Given the description of an element on the screen output the (x, y) to click on. 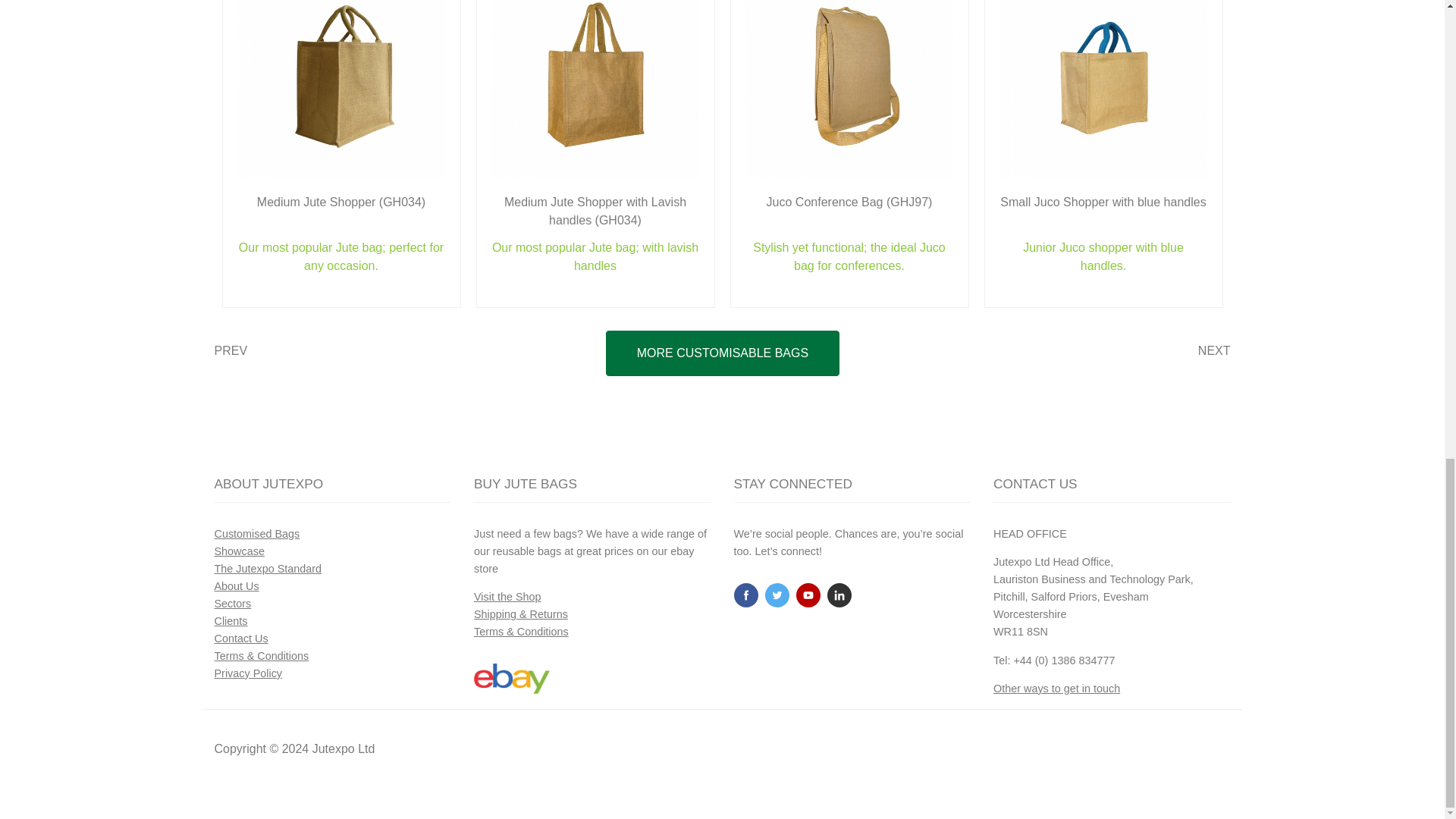
Small Juco Shopper with blue handles (1103, 153)
